Given the description of an element on the screen output the (x, y) to click on. 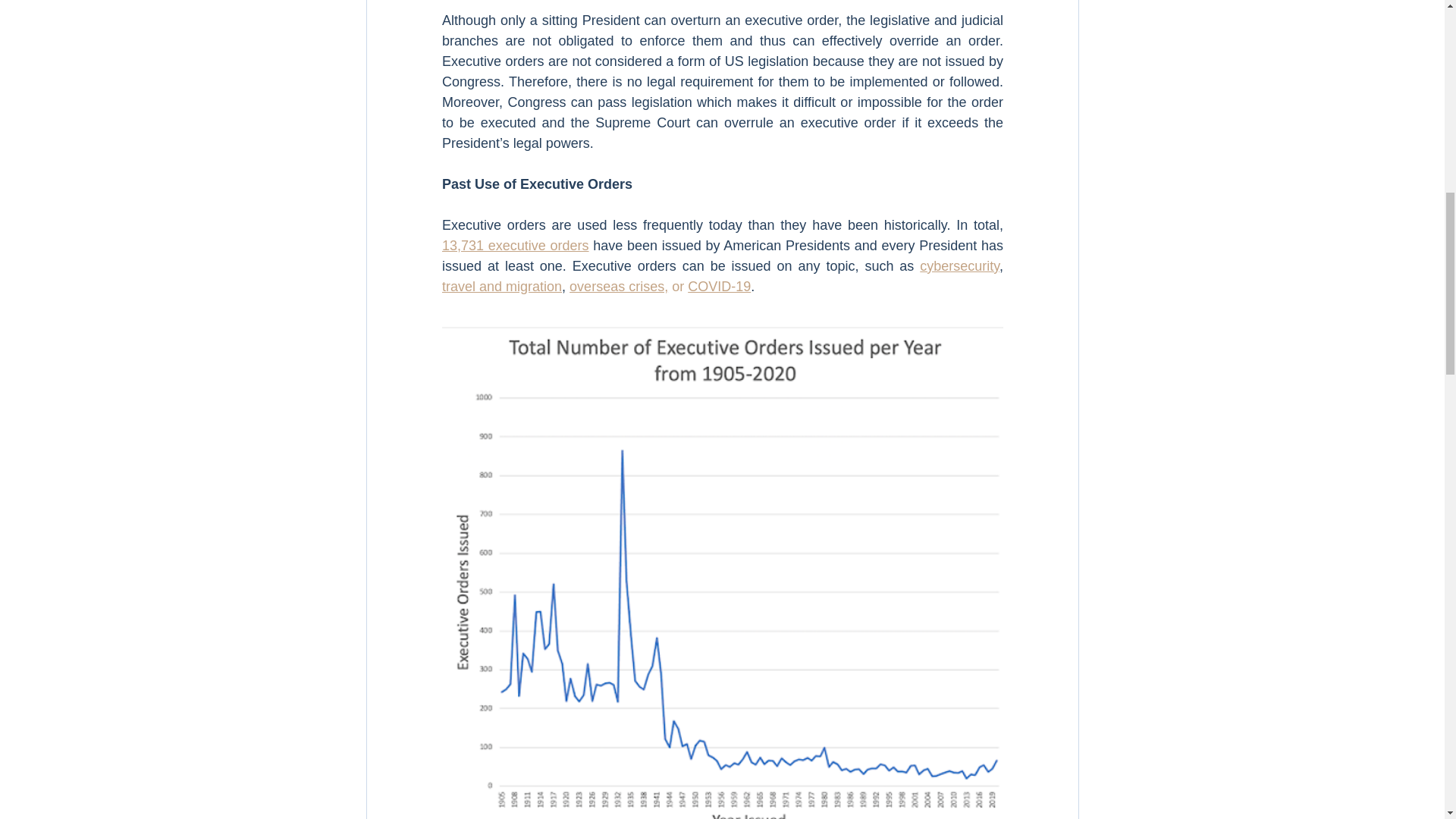
travel and migration (500, 286)
overseas crises, (618, 286)
13,731 executive orders (514, 245)
cybersecurity (959, 265)
 or (676, 286)
COVID-19 (719, 286)
